Given the description of an element on the screen output the (x, y) to click on. 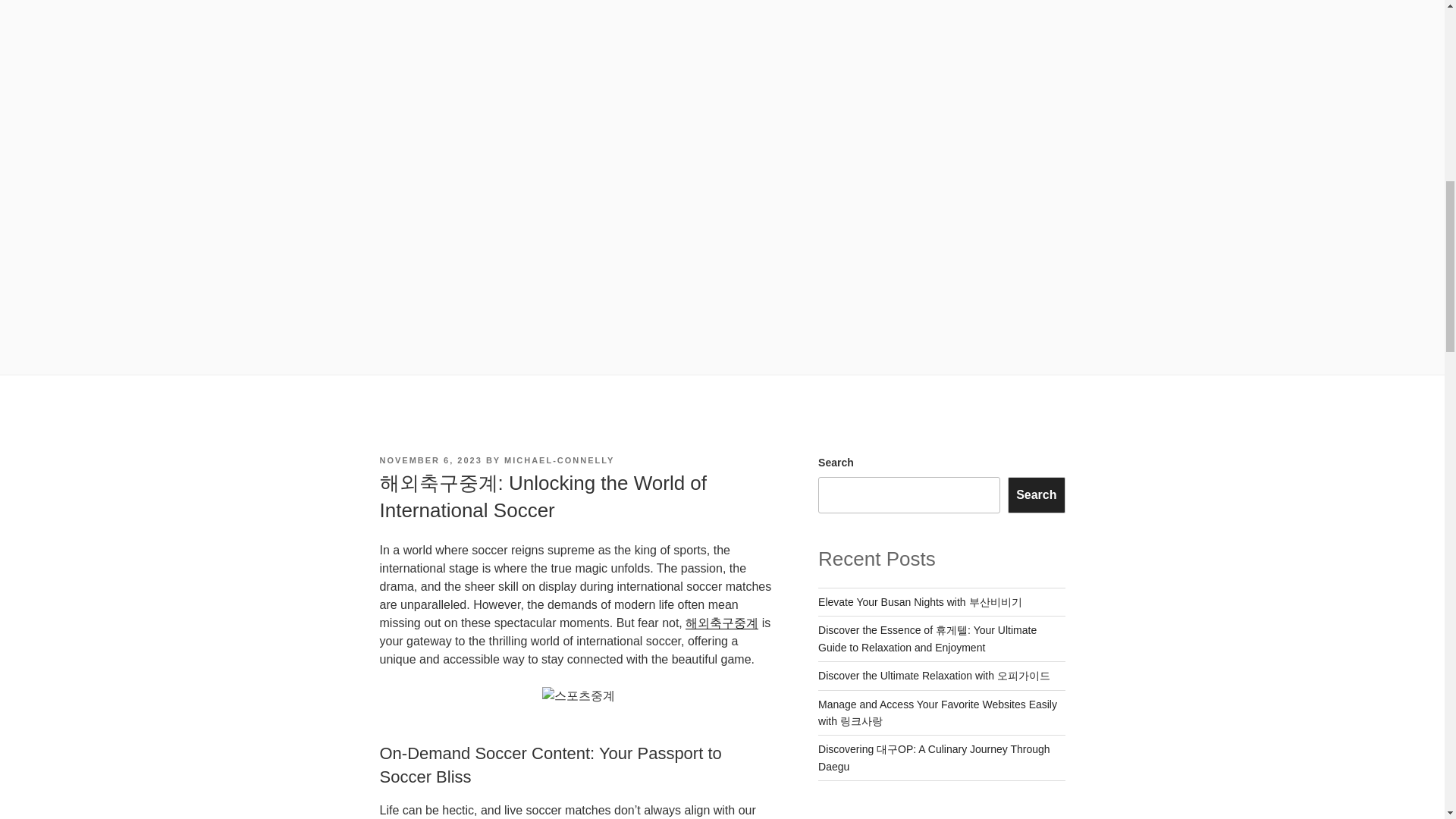
NOVEMBER 6, 2023 (429, 460)
Search (1035, 494)
MICHAEL-CONNELLY (558, 460)
